Given the description of an element on the screen output the (x, y) to click on. 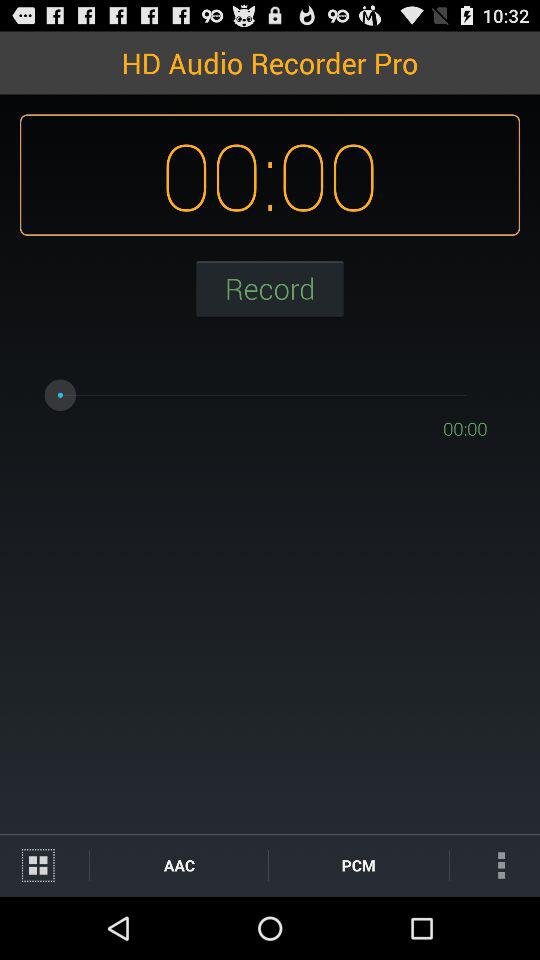
select item next to the aac icon (358, 864)
